Given the description of an element on the screen output the (x, y) to click on. 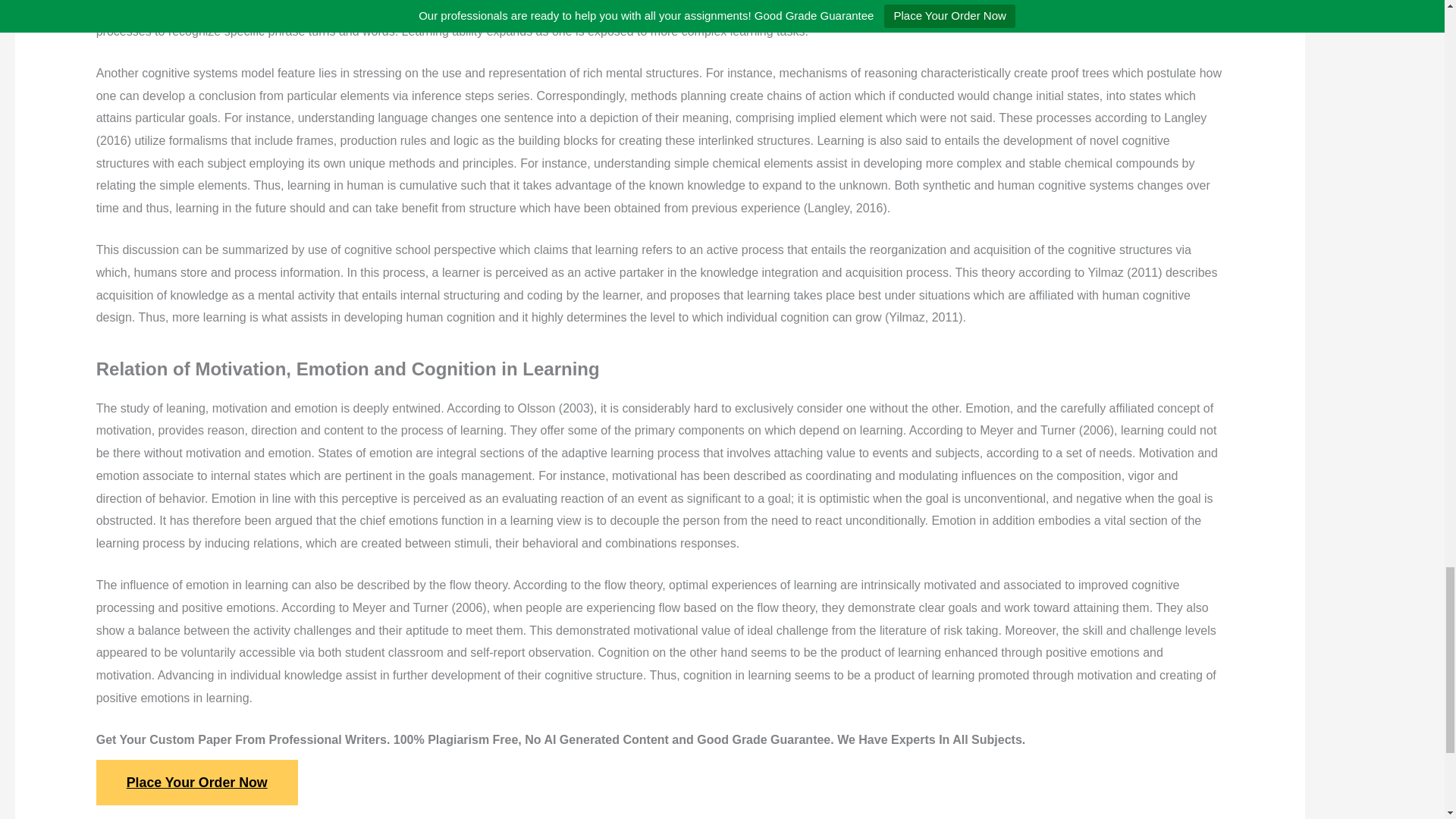
Place Your Order Now (197, 782)
